Given the description of an element on the screen output the (x, y) to click on. 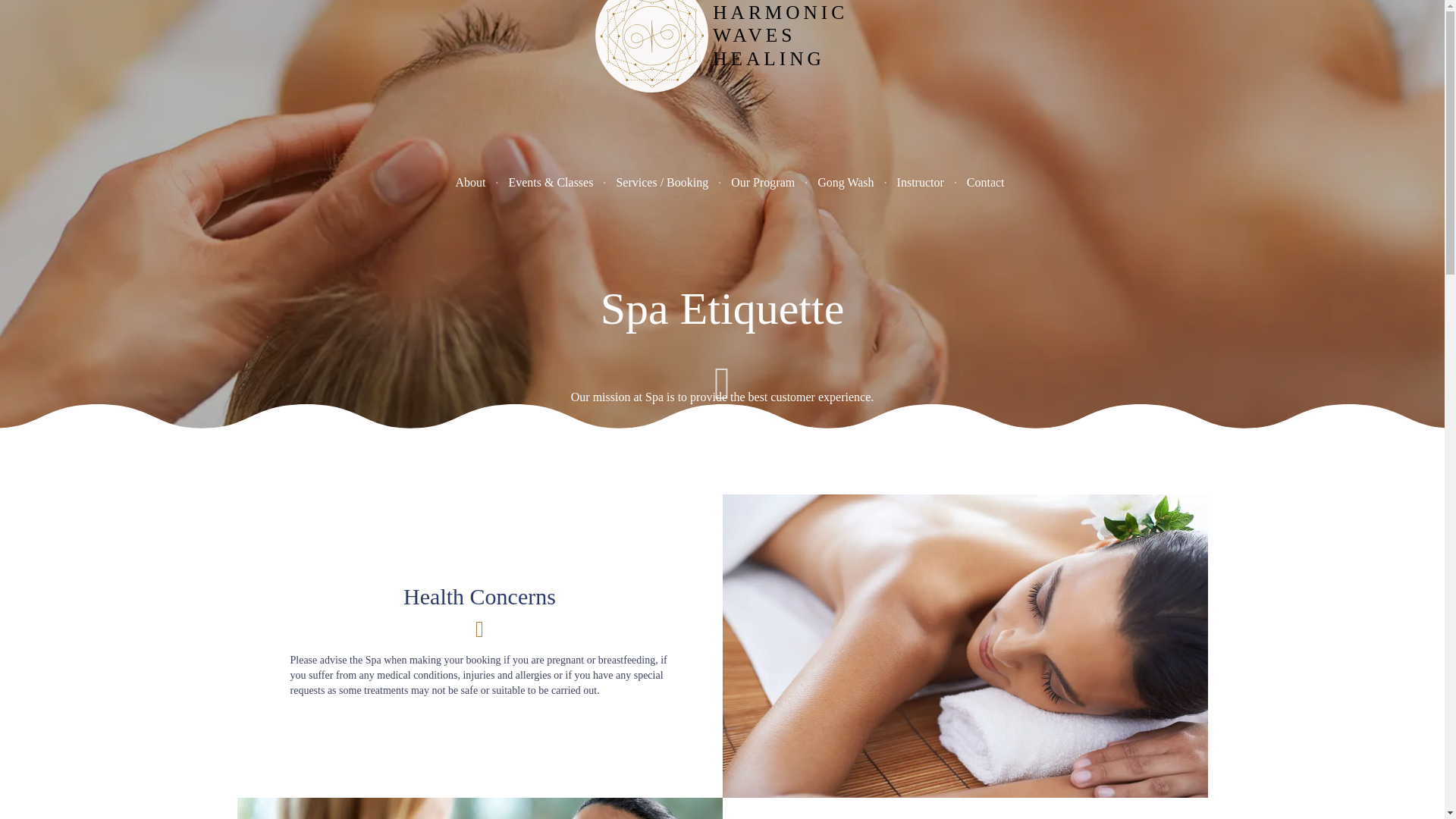
Harmonic Waves Healing (722, 85)
Instructor (920, 182)
Contact (985, 182)
About (470, 182)
Our Program (762, 182)
Gong Wash (845, 182)
